Given the description of an element on the screen output the (x, y) to click on. 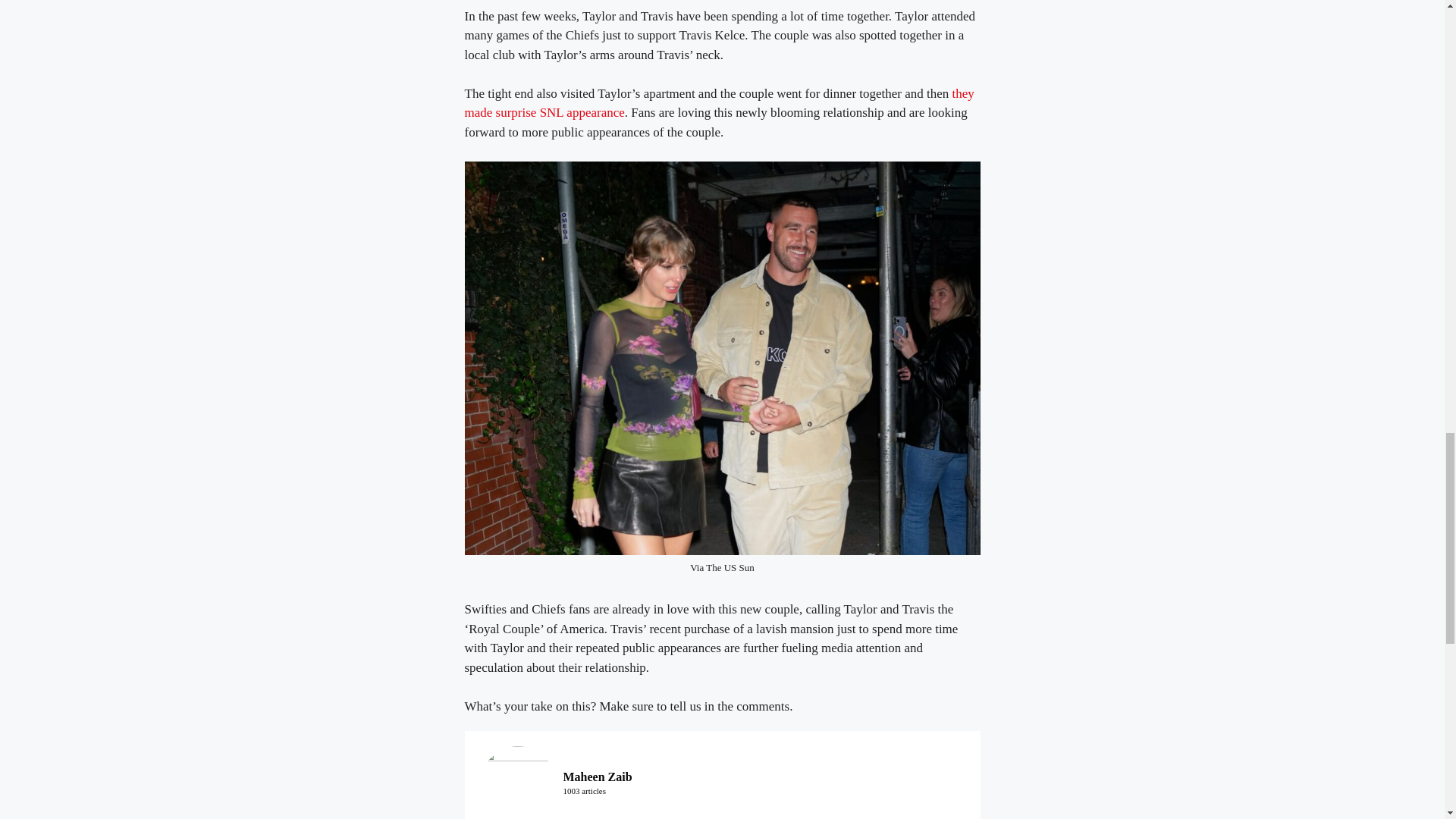
they made surprise SNL appearance (719, 103)
